Given the description of an element on the screen output the (x, y) to click on. 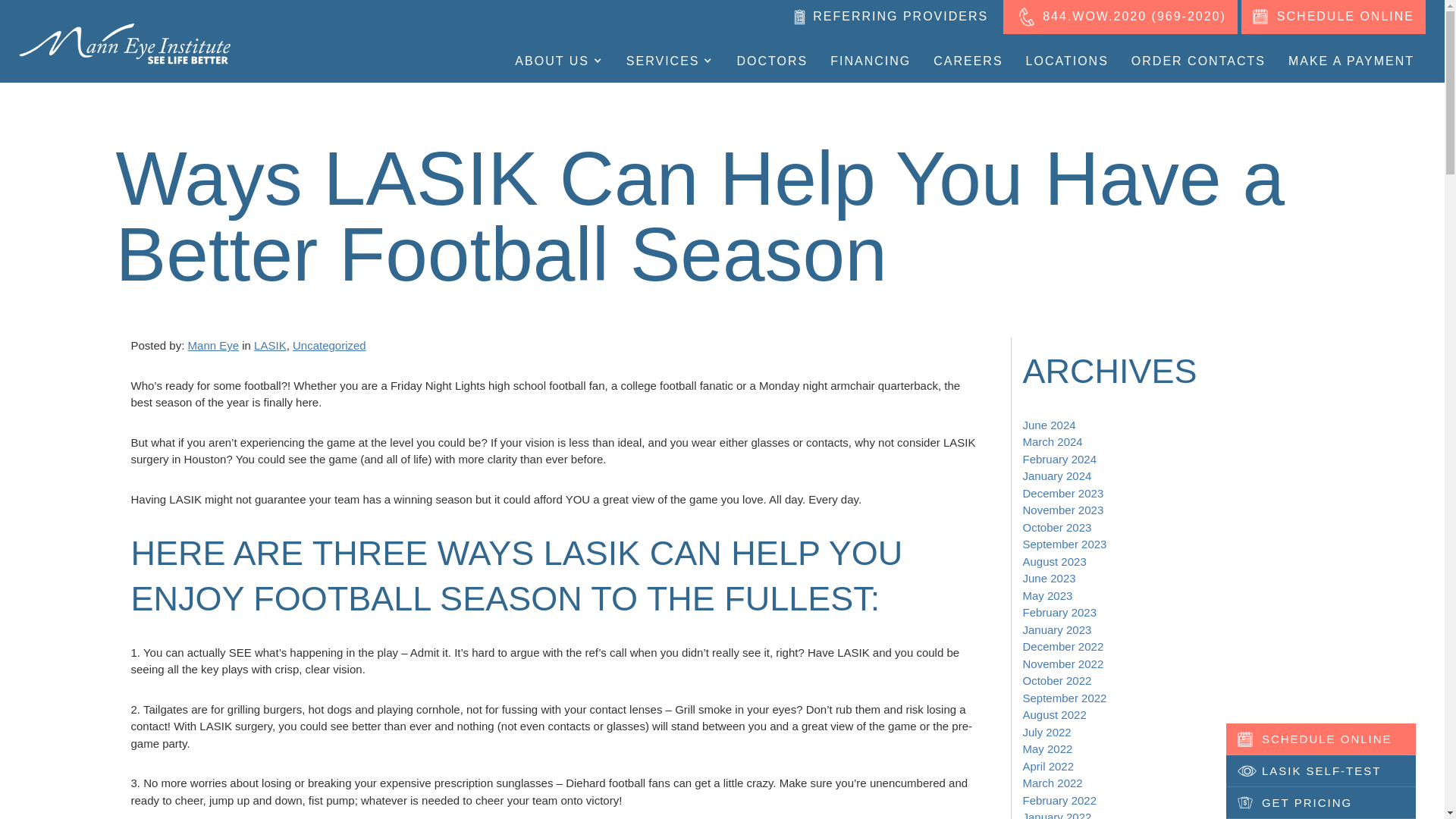
REFERRING PROVIDERS (890, 17)
Click to go to  Schedule Online form (1333, 17)
Services (669, 60)
ABOUT US (558, 60)
SERVICES (669, 60)
CAREERS (967, 60)
ORDER CONTACTS (1197, 60)
FINANCING (869, 60)
DOCTORS (771, 60)
SCHEDULE ONLINE (1333, 17)
